Given the description of an element on the screen output the (x, y) to click on. 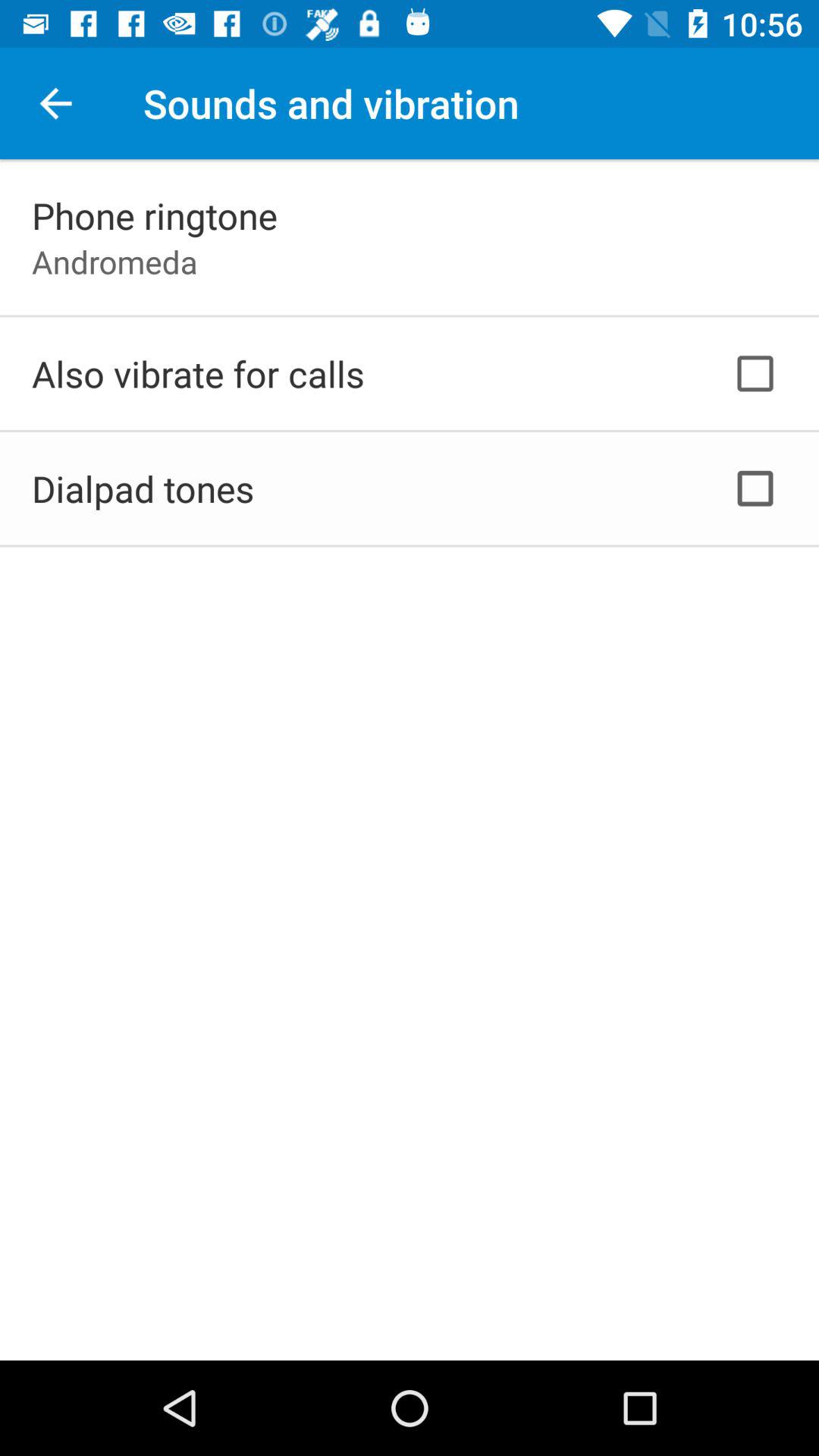
jump until the andromeda app (114, 261)
